Given the description of an element on the screen output the (x, y) to click on. 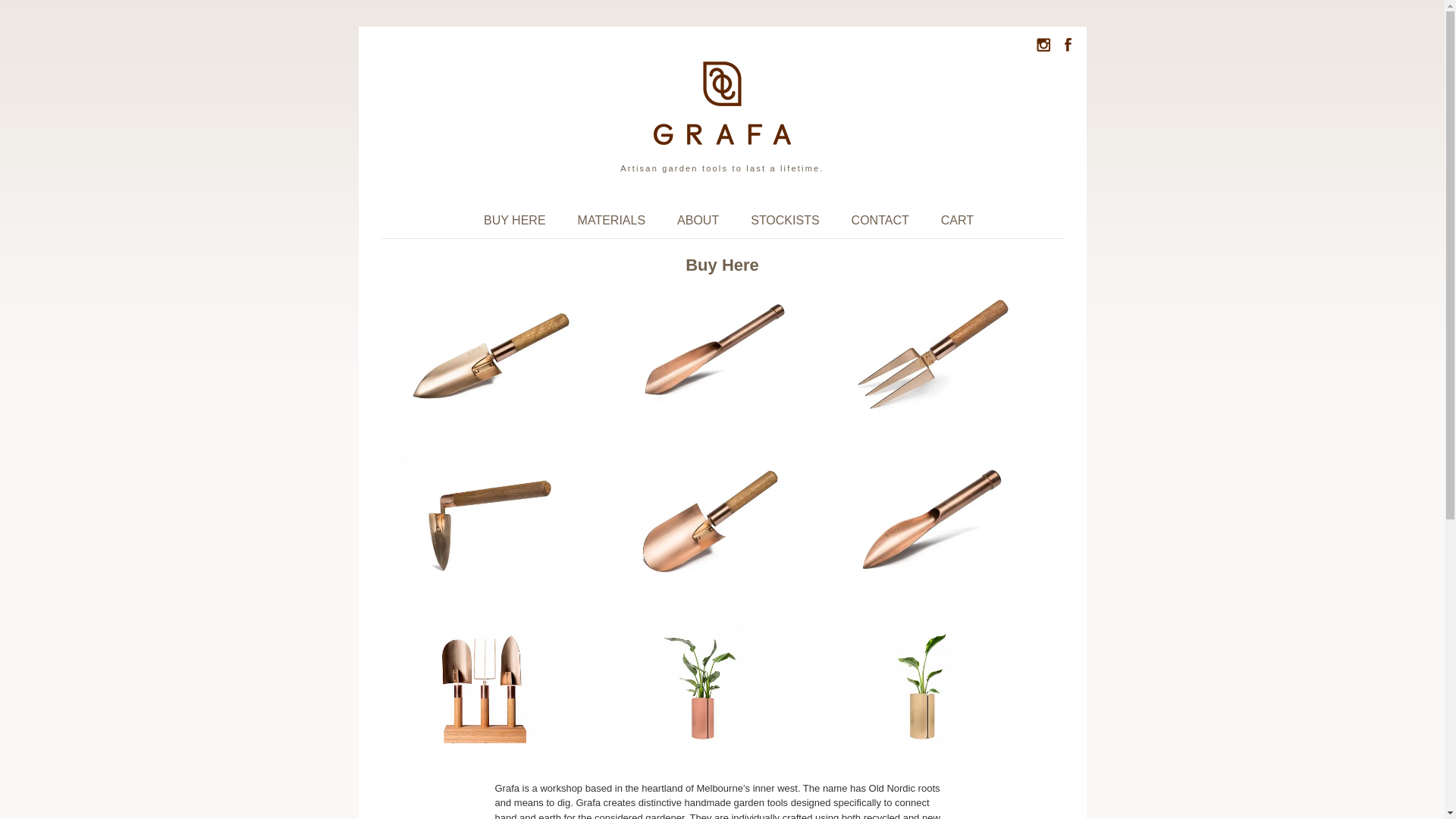
CART Element type: text (957, 220)
STOCKISTS Element type: text (784, 220)
ABOUT Element type: text (697, 220)
MATERIALS Element type: text (611, 220)
BUY HERE Element type: text (514, 220)
CONTACT Element type: text (880, 220)
